Given the description of an element on the screen output the (x, y) to click on. 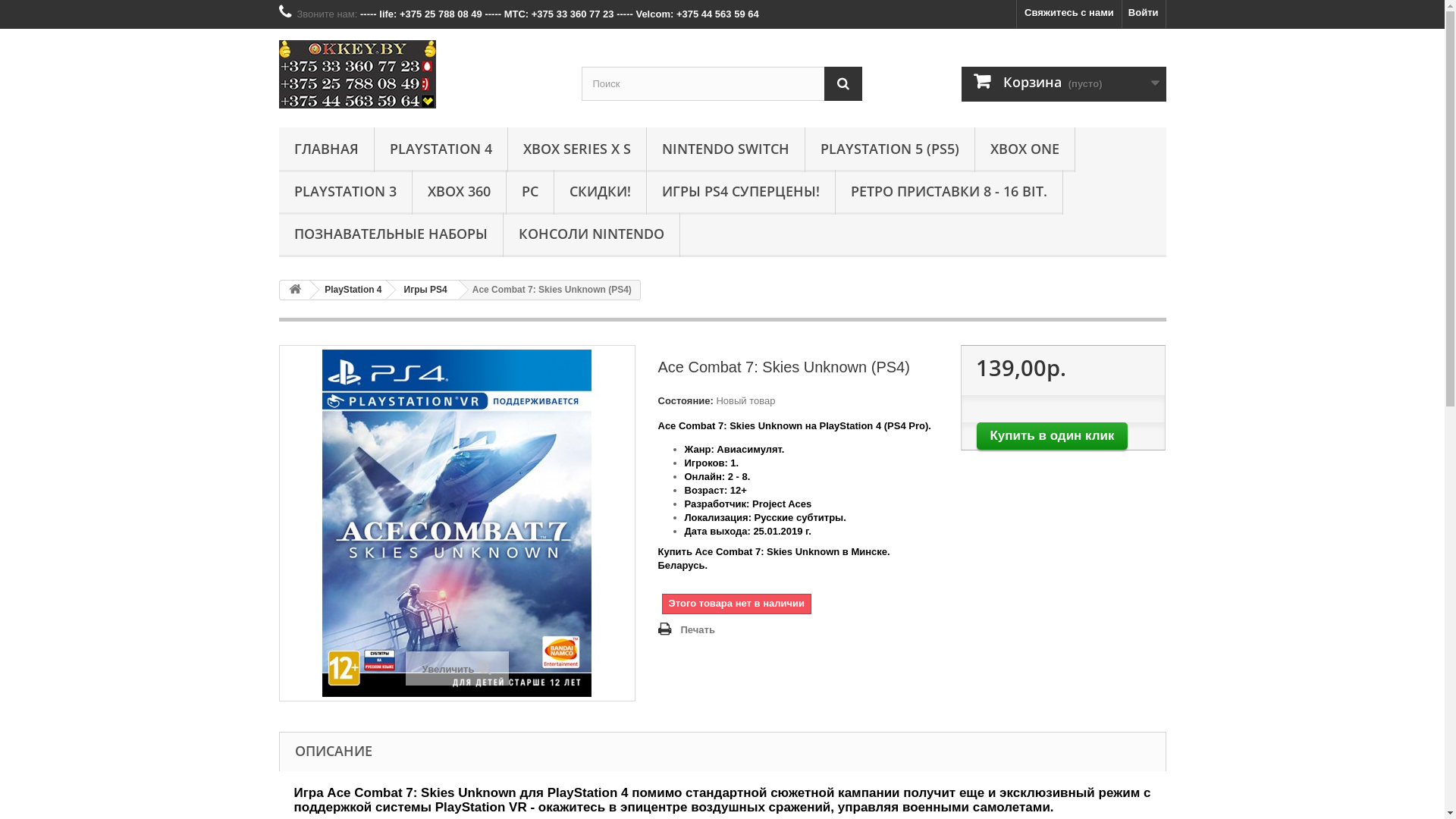
XBOX 360 Element type: text (458, 191)
PC Element type: text (529, 191)
PLAYSTATION 4 Element type: text (440, 149)
XBOX ONE Element type: text (1024, 149)
okkey.by  Element type: hover (419, 74)
PlayStation 4 Element type: text (349, 289)
Ace Combat 7: Skies Unknown (PS4) Element type: hover (456, 522)
NINTENDO SWITCH Element type: text (724, 149)
PLAYSTATION 3 Element type: text (345, 191)
PLAYSTATION 5 (PS5) Element type: text (889, 149)
XBOX SERIES X S Element type: text (577, 149)
